Given the description of an element on the screen output the (x, y) to click on. 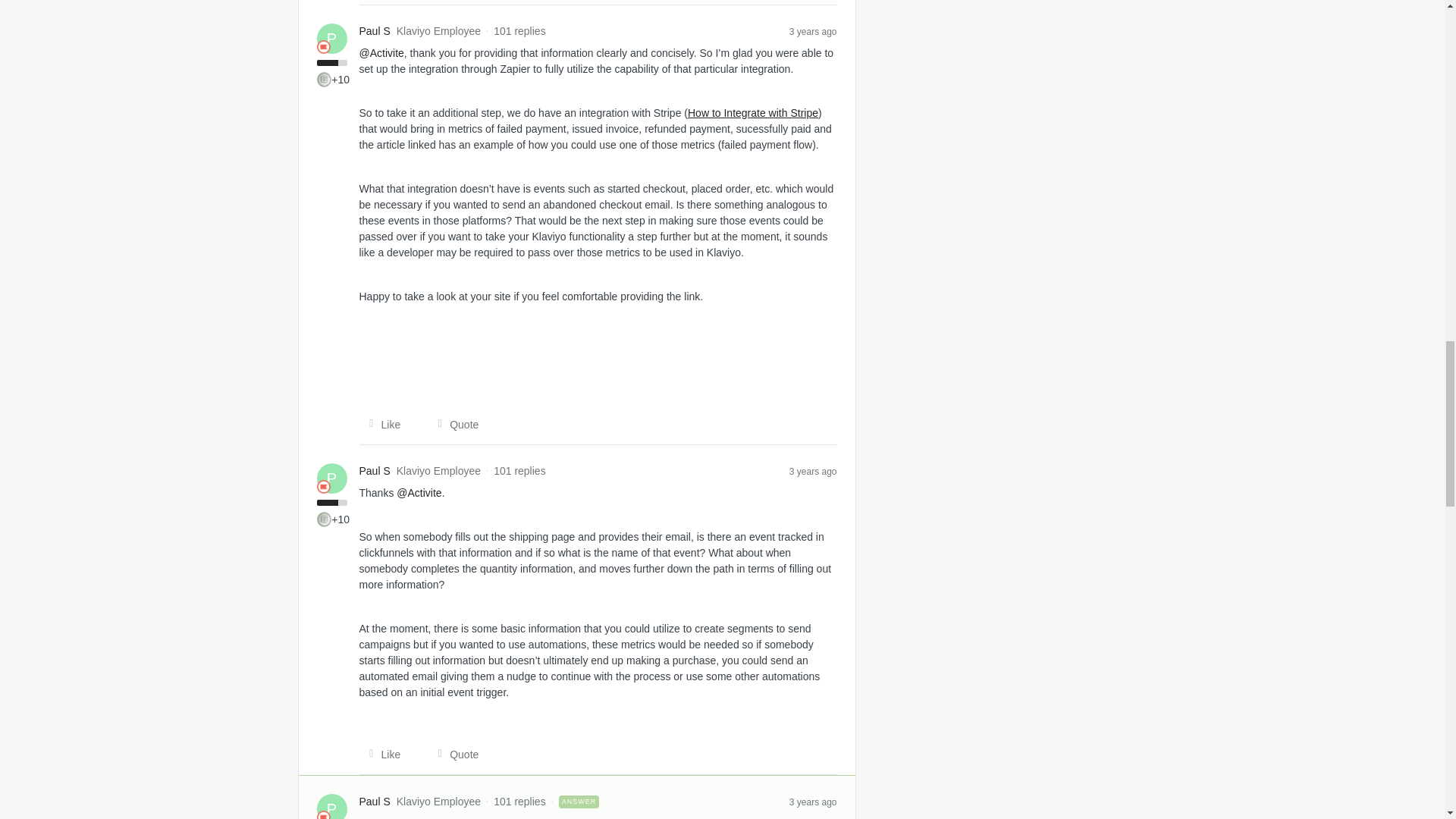
3 years ago (813, 30)
Paul S (374, 471)
P (332, 38)
How to Integrate with Stripe (752, 112)
Paul S (374, 31)
Paul S (374, 471)
Like (380, 424)
P (332, 478)
Paul S (374, 31)
Klaviyo Employee (323, 486)
Klaviyo Employee (323, 47)
Klaviyo Employee (323, 814)
3 years ago (813, 470)
Quote (453, 424)
Paul S (374, 801)
